Given the description of an element on the screen output the (x, y) to click on. 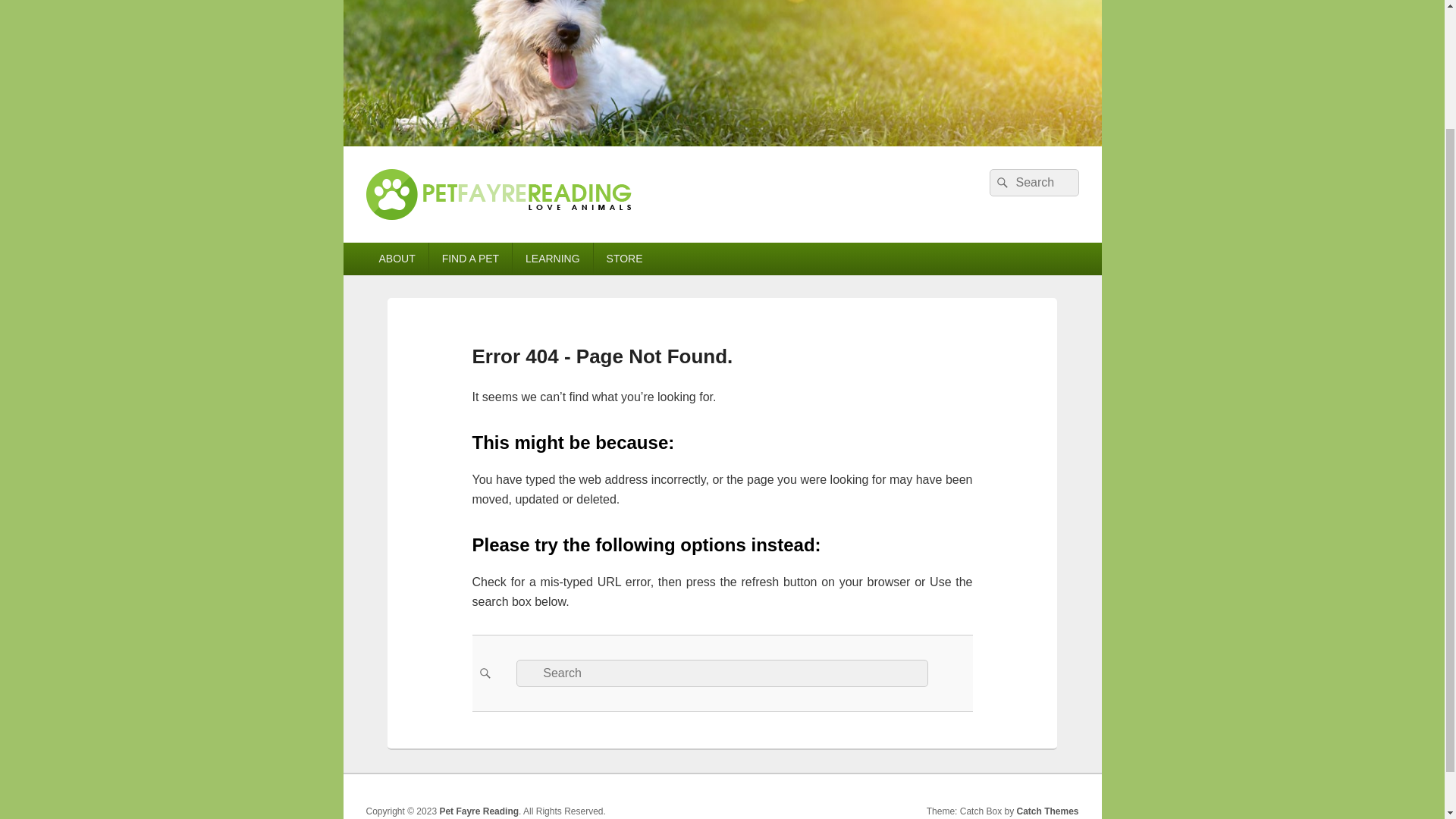
Search for: (722, 673)
Pet Fayre Reading (478, 810)
ABOUT (396, 258)
Search for: (1033, 182)
STORE (625, 258)
Pet Fayre Reading (484, 236)
FIND A PET (470, 258)
Pet Fayre Reading (478, 810)
LEARNING (552, 258)
Pet Fayre Reading (721, 141)
